Given the description of an element on the screen output the (x, y) to click on. 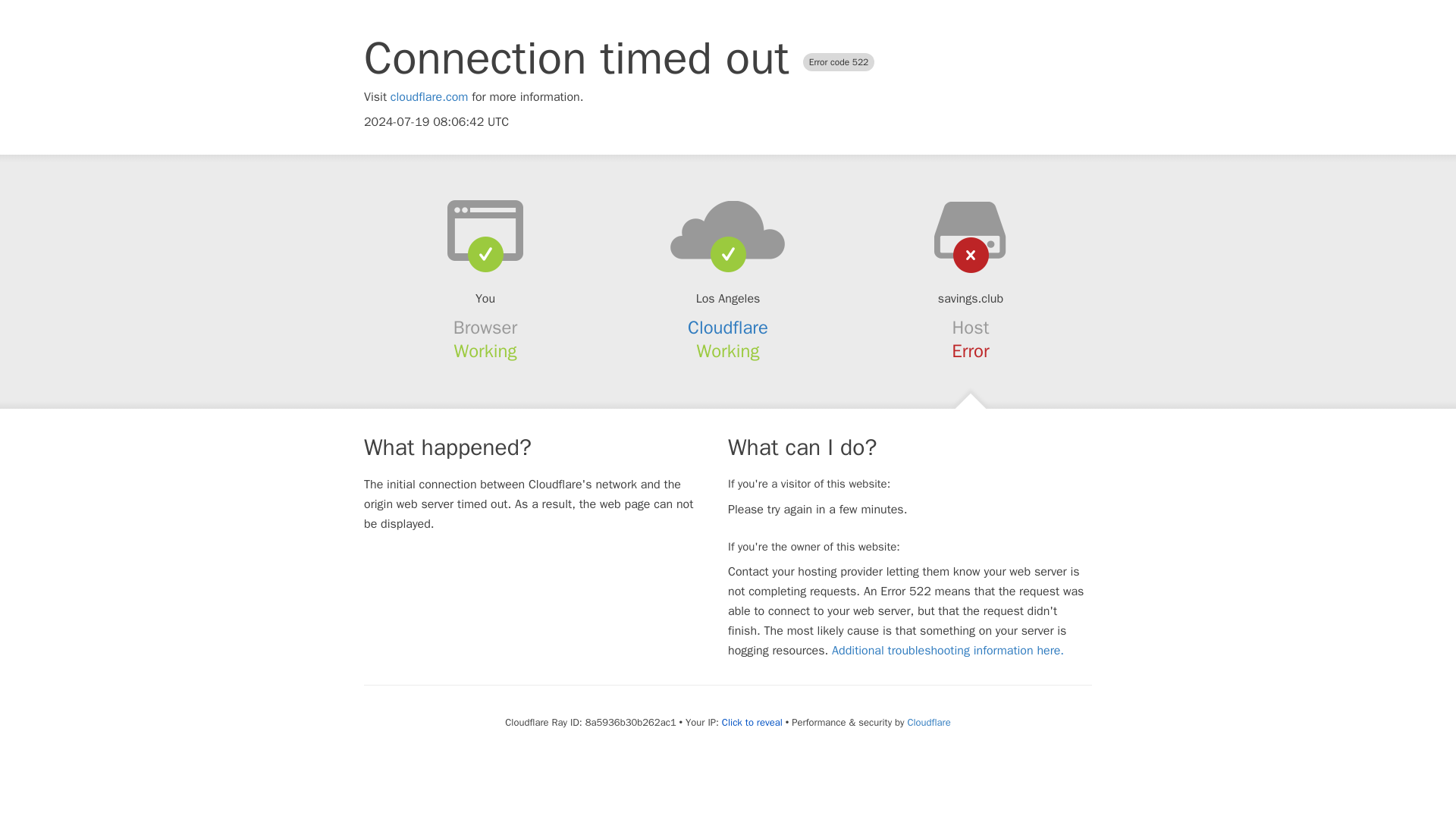
Cloudflare (727, 327)
Cloudflare (928, 721)
Click to reveal (752, 722)
cloudflare.com (429, 96)
Additional troubleshooting information here. (947, 650)
